Given the description of an element on the screen output the (x, y) to click on. 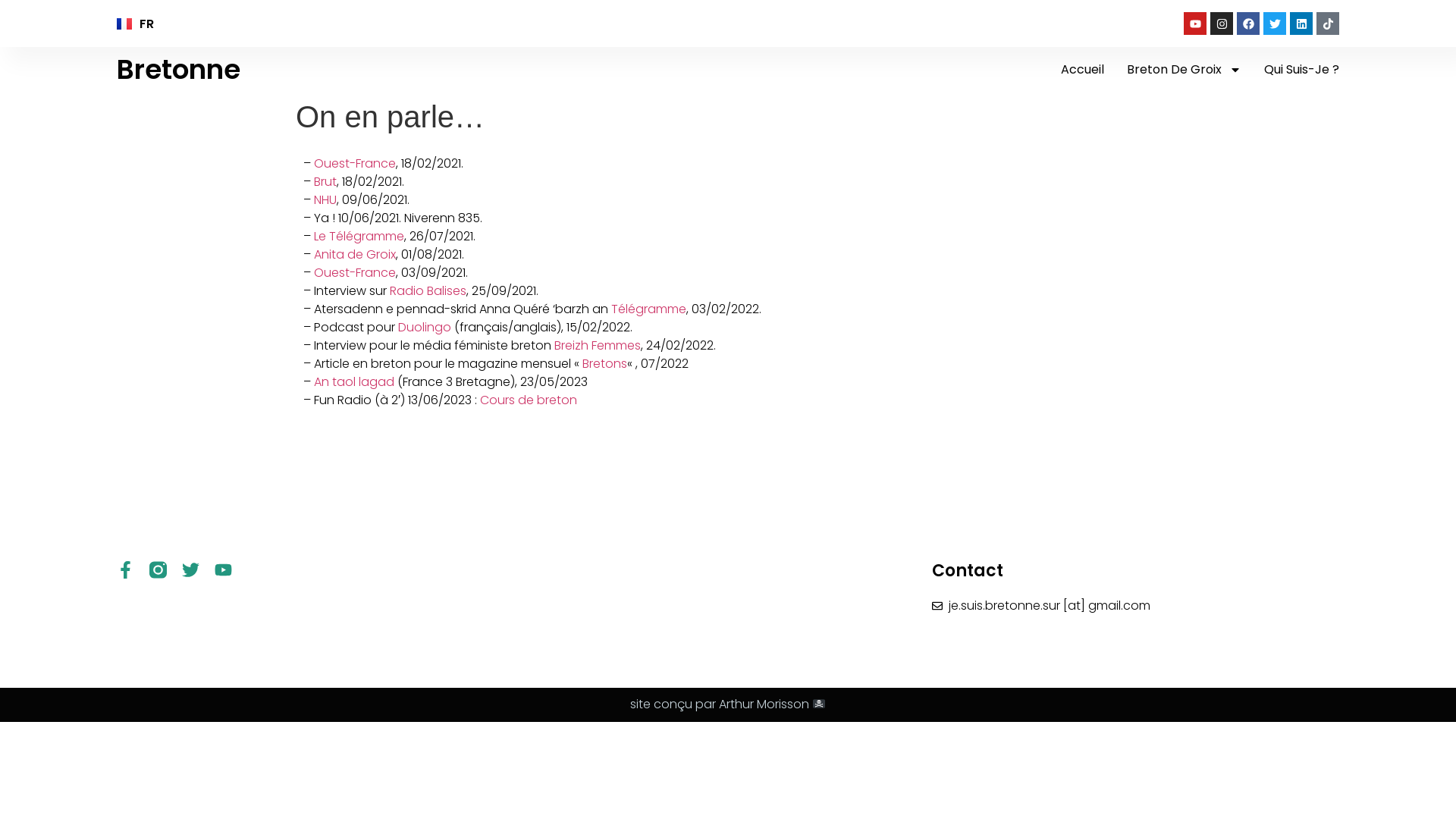
FR Element type: text (138, 23)
Qui Suis-Je ? Element type: text (1301, 69)
An taol lagad Element type: text (353, 381)
Bretons Element type: text (604, 363)
je.suis.bretonne.sur [at] gmail.com Element type: text (1135, 605)
Cours de breton Element type: text (528, 399)
Accueil Element type: text (1082, 69)
NHU Element type: text (324, 199)
Brut Element type: text (324, 181)
Radio Balises Element type: text (427, 290)
Breton De Groix Element type: text (1183, 69)
Ouest-France Element type: text (354, 163)
Bretonne Element type: text (178, 69)
Breizh Femmes Element type: text (597, 345)
Duolingo Element type: text (424, 326)
Anita de Groix Element type: text (354, 254)
Ouest-France Element type: text (354, 272)
